Given the description of an element on the screen output the (x, y) to click on. 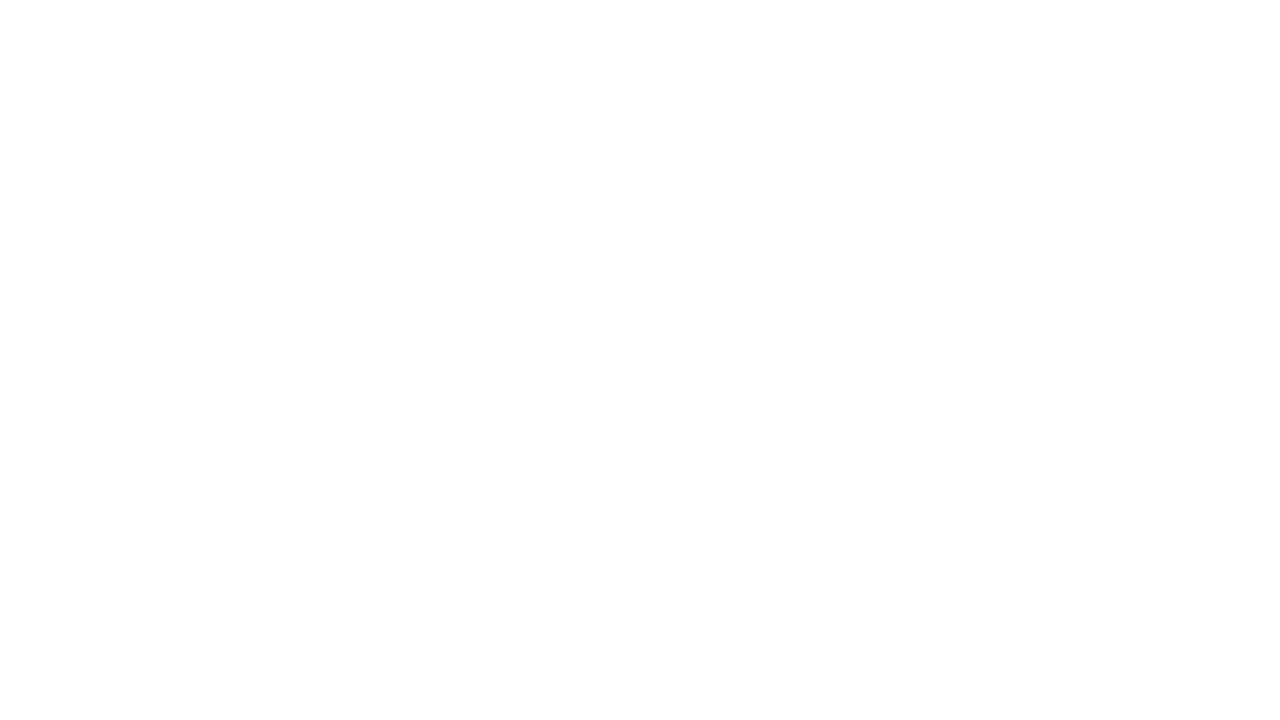
Replace with (142, 96)
Replace with (132, 95)
Find what (132, 58)
Find what (142, 58)
